Given the description of an element on the screen output the (x, y) to click on. 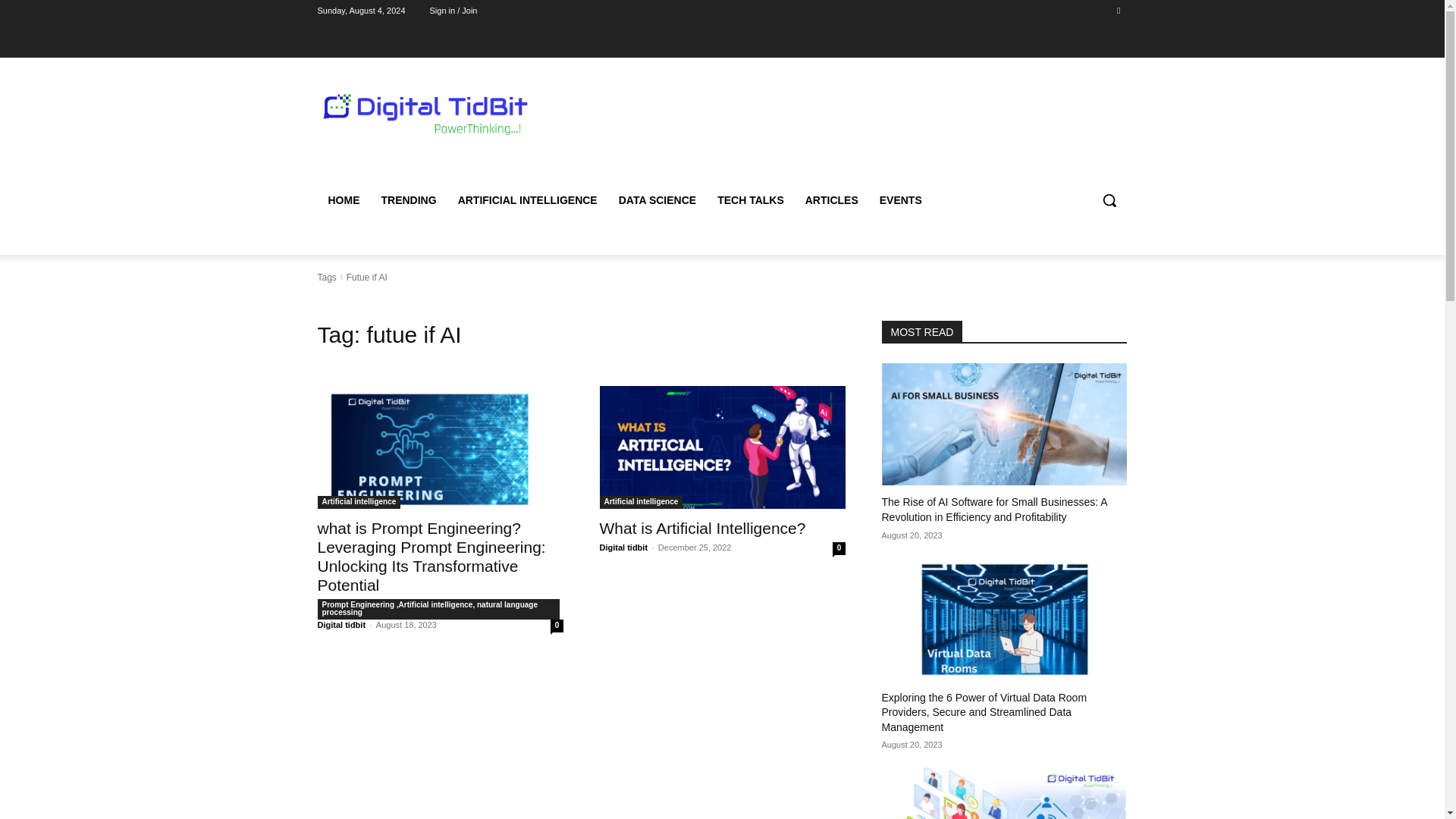
TECH TALKS (750, 199)
TRENDING (407, 199)
EVENTS (901, 199)
What is Artificial Intelligence? (701, 527)
Artificial intelligence (358, 502)
ARTIFICIAL INTELLIGENCE (527, 199)
Facebook (1117, 9)
Artificial intelligence (640, 502)
HOME (343, 199)
0 (556, 625)
